Given the description of an element on the screen output the (x, y) to click on. 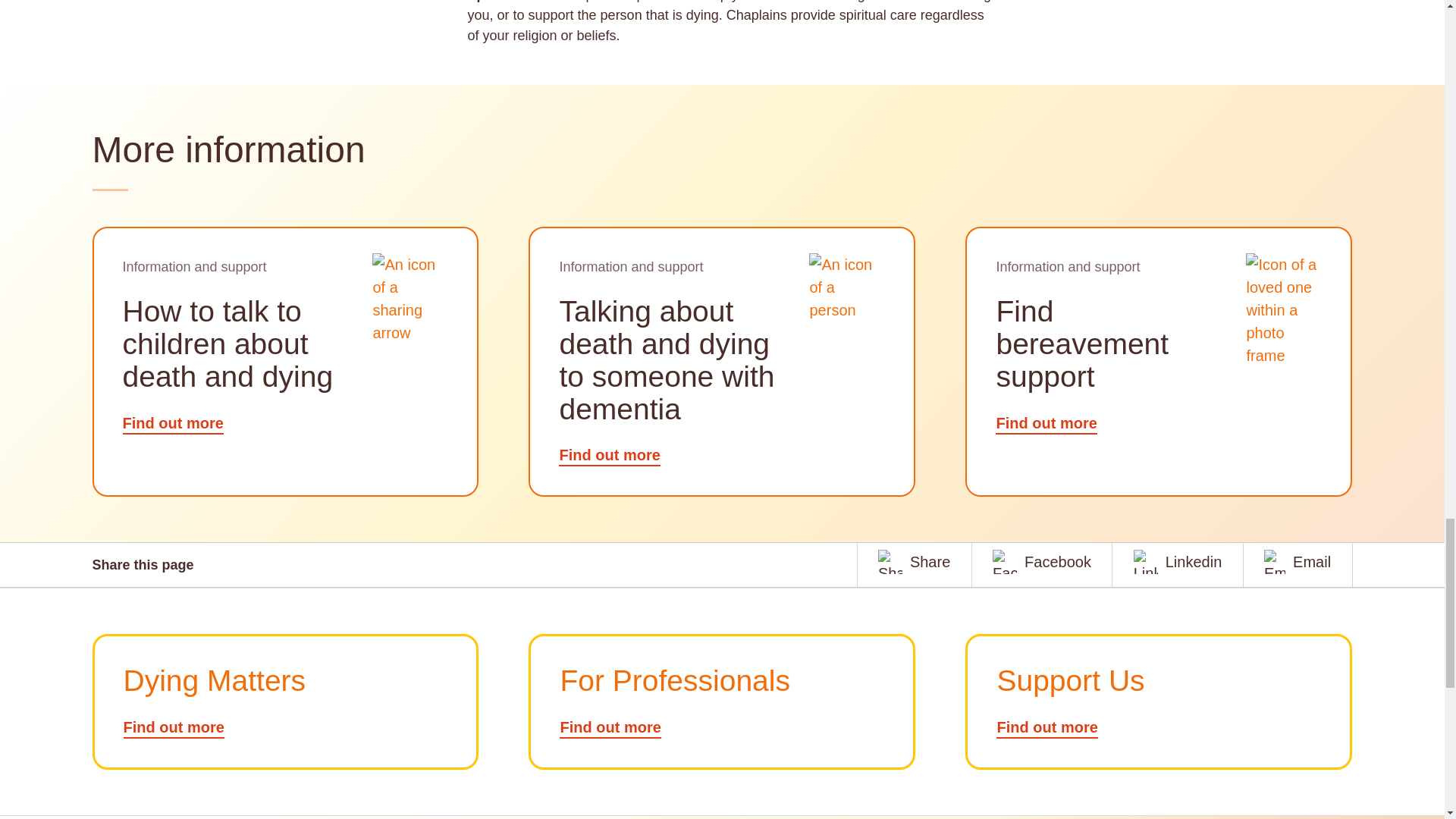
Share (913, 561)
Email (1296, 561)
Linkedin (1178, 561)
Facebook (1041, 561)
